Given the description of an element on the screen output the (x, y) to click on. 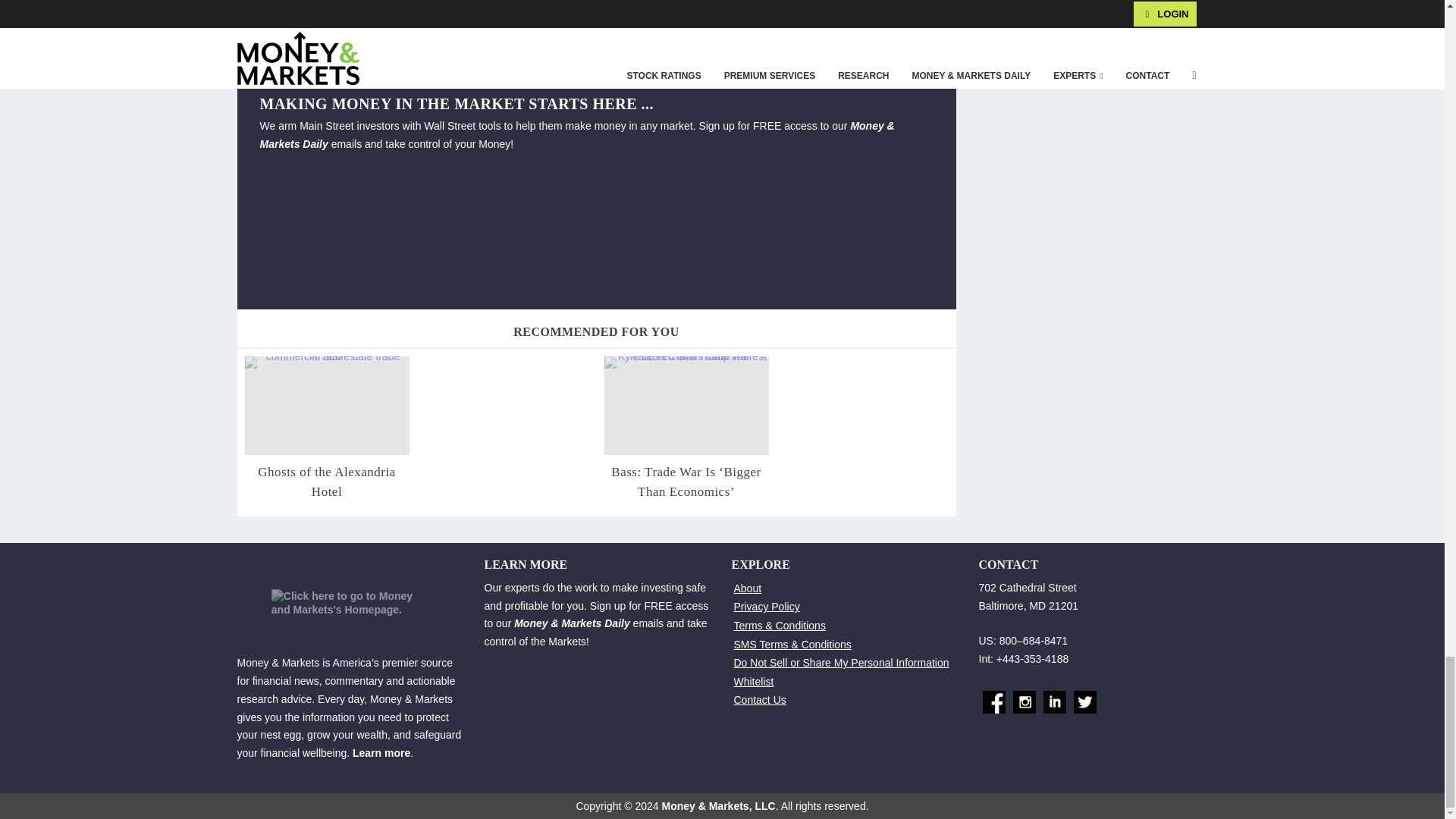
Learn more (381, 752)
About (747, 588)
Ghosts of the Alexandria Hotel (326, 481)
Do Not Sell or Share My Personal Information (841, 662)
Ghosts of the Alexandria Hotel (326, 405)
Ghosts of the Alexandria Hotel (326, 481)
Privacy Policy (766, 606)
